Given the description of an element on the screen output the (x, y) to click on. 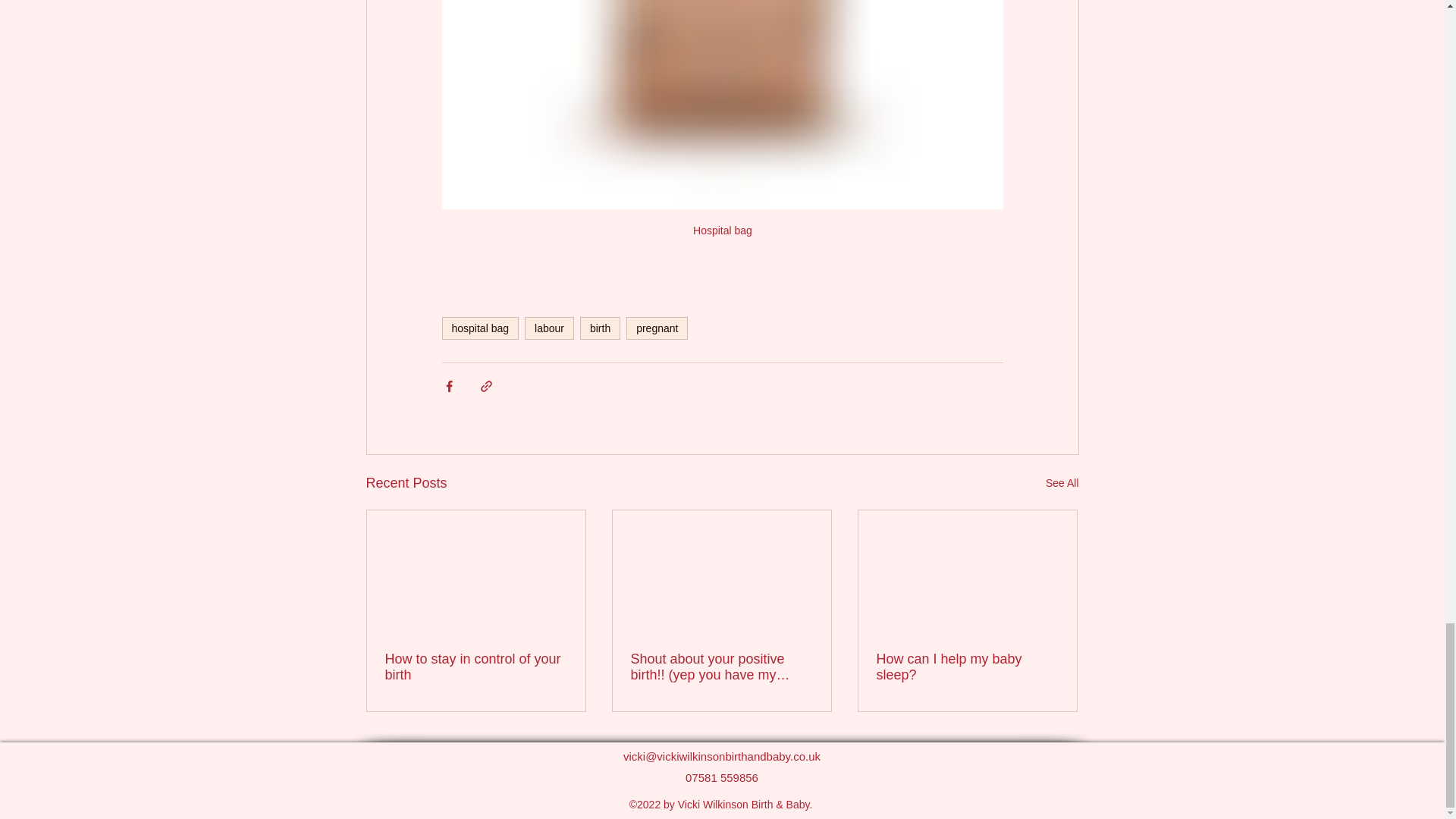
labour (548, 327)
hospital bag (479, 327)
birth (599, 327)
pregnant (656, 327)
See All (1061, 483)
